Given the description of an element on the screen output the (x, y) to click on. 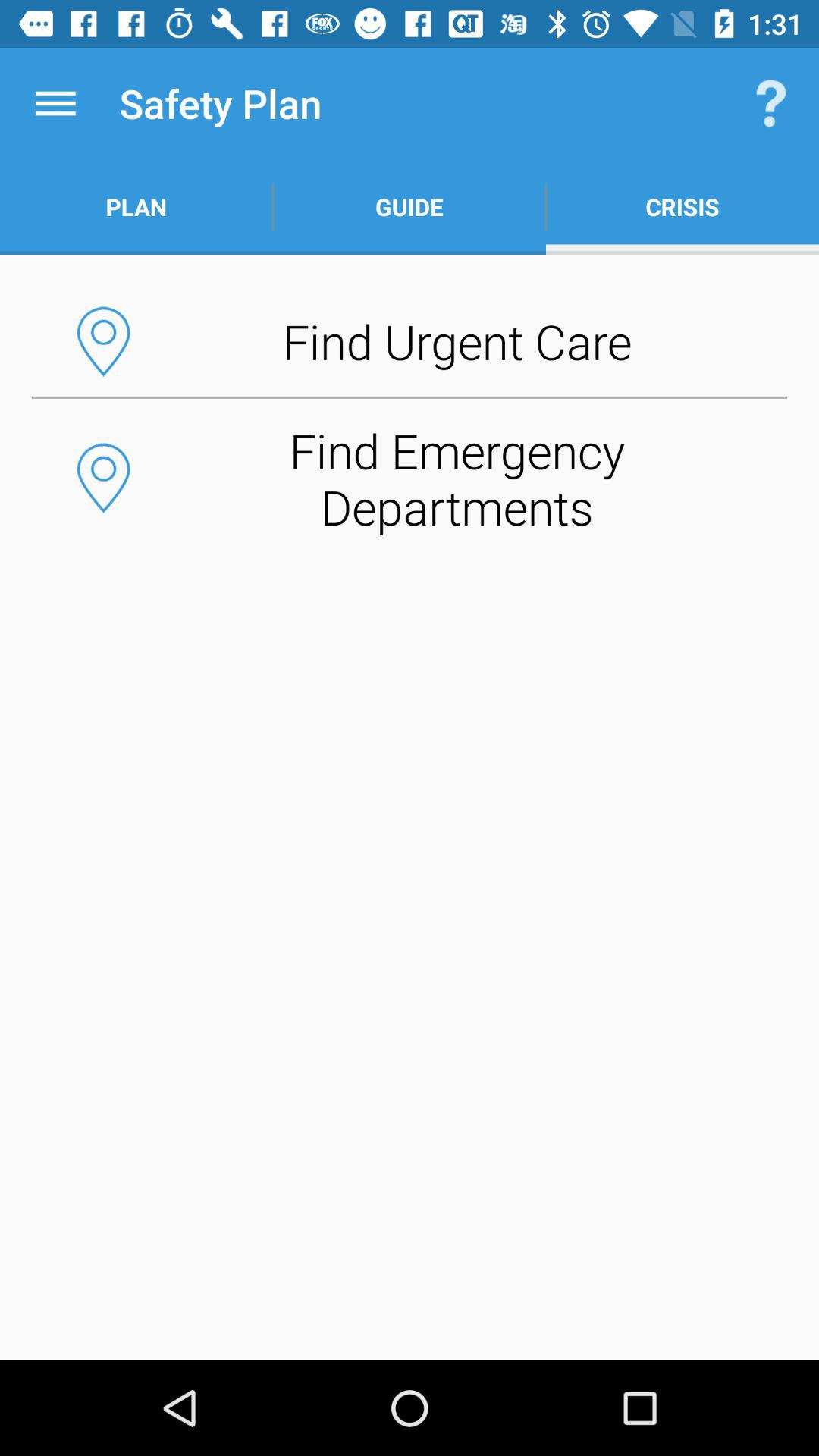
select the button above find urgent care button (682, 206)
